Given the description of an element on the screen output the (x, y) to click on. 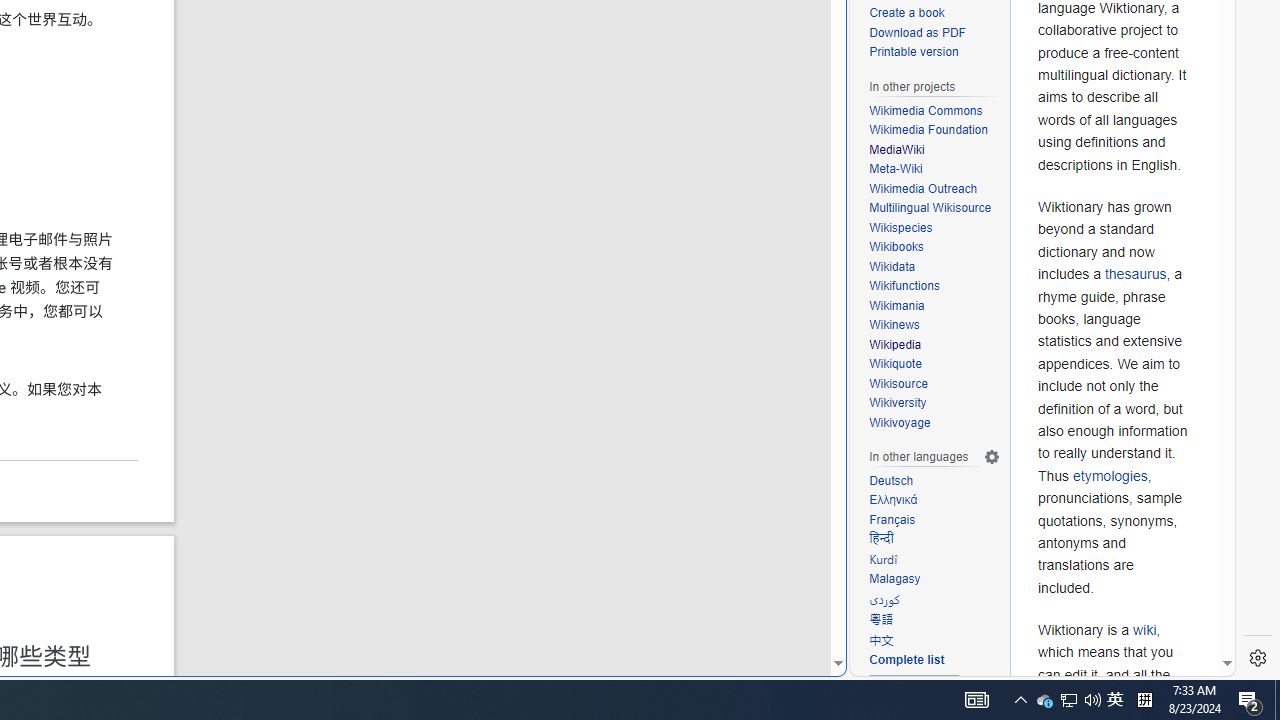
Complete list (934, 660)
thesaurus (1135, 273)
etymologies (1110, 475)
Wikidata (892, 266)
Printable version (913, 51)
Actions for this site (1129, 306)
Wikispecies (934, 228)
Wikisource (898, 382)
Wikispecies (901, 227)
Wikimedia Commons (926, 110)
